Given the description of an element on the screen output the (x, y) to click on. 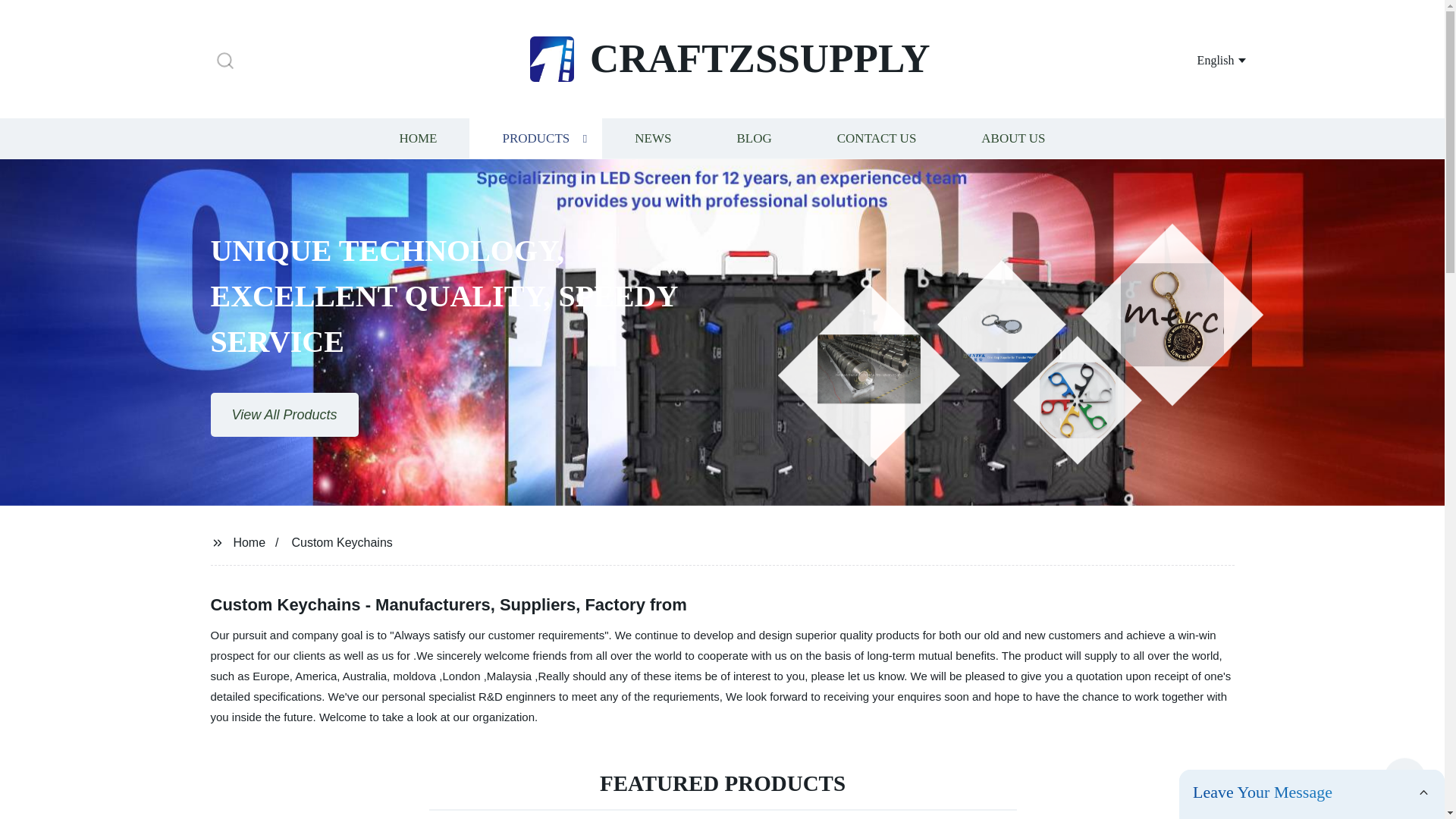
Top (1404, 778)
BLOG (753, 137)
PRODUCTS (535, 137)
English (1203, 59)
English (1203, 59)
ABOUT US (1013, 137)
NEWS (652, 137)
CONTACT US (877, 137)
Custom Keychains (341, 541)
HOME (417, 137)
